Given the description of an element on the screen output the (x, y) to click on. 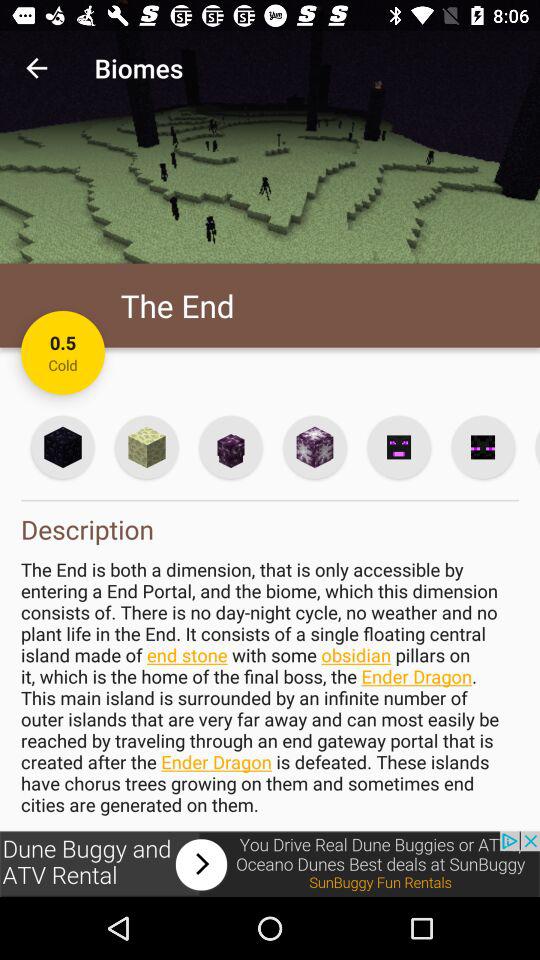
click advertisement (270, 864)
